Given the description of an element on the screen output the (x, y) to click on. 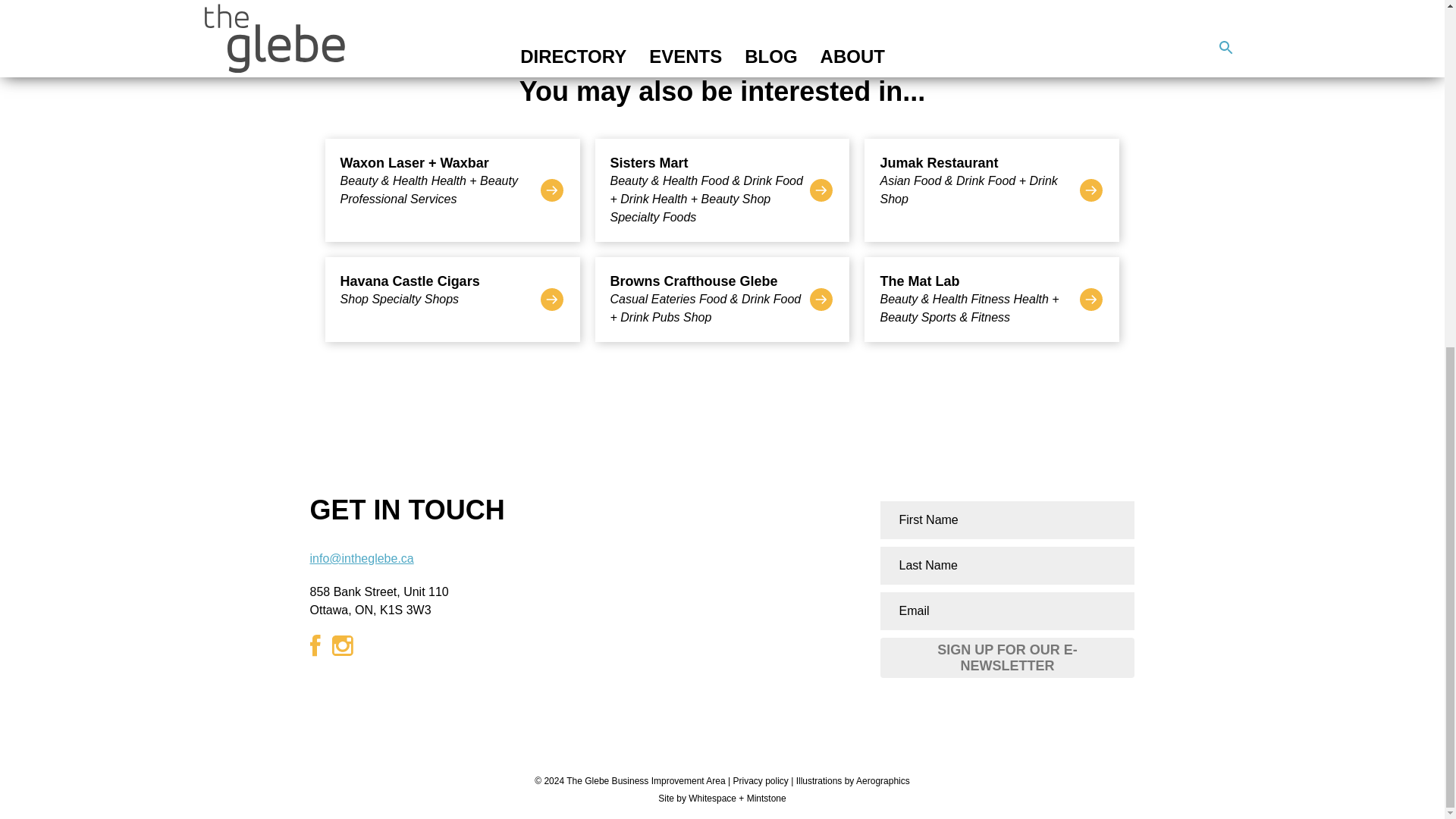
SIGN UP FOR OUR E-NEWSLETTER (1007, 658)
SIGN UP FOR OUR E-NEWSLETTER (1007, 658)
Privacy policy (451, 299)
